Given the description of an element on the screen output the (x, y) to click on. 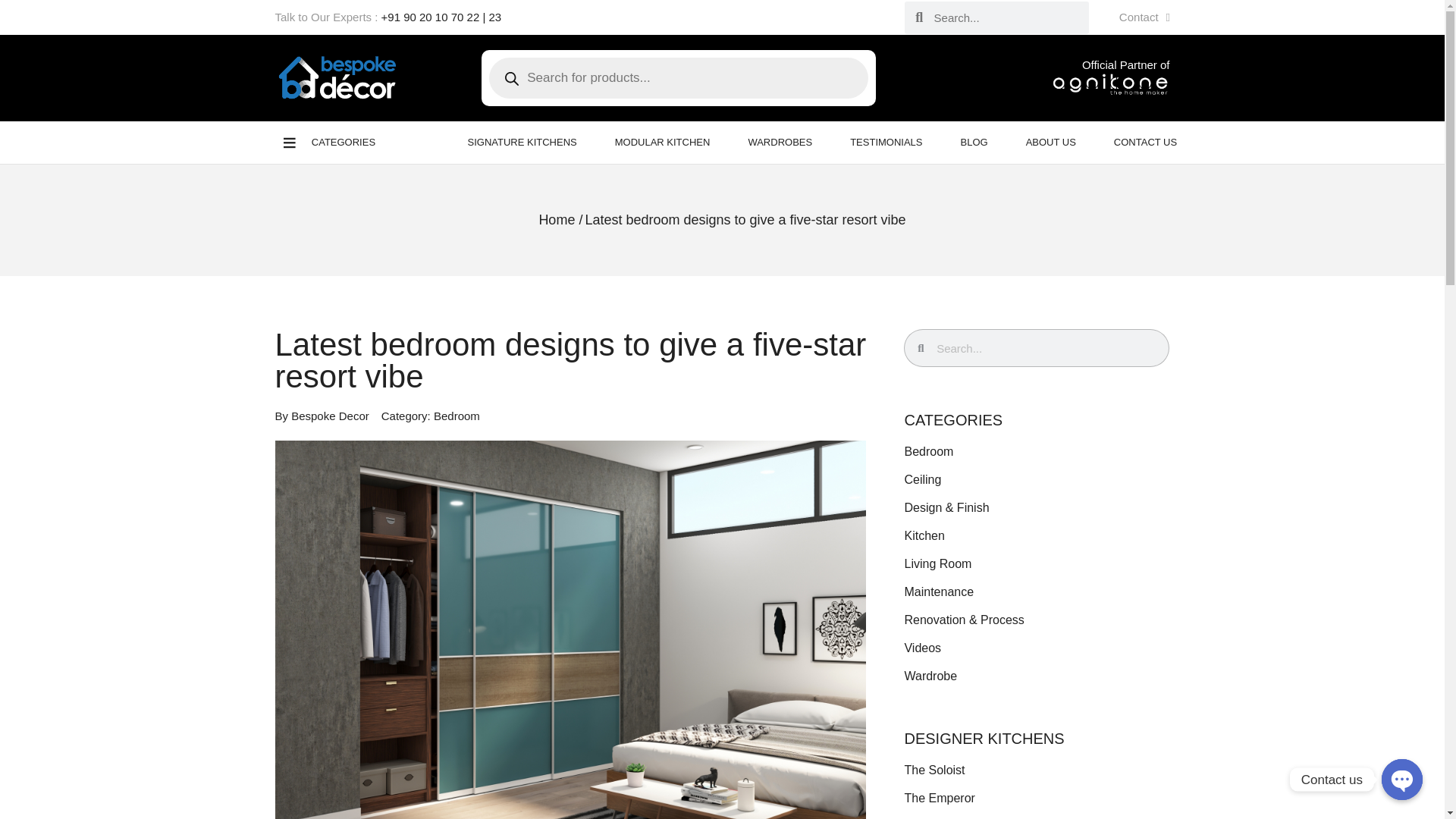
23 (493, 16)
CATEGORIES (331, 142)
Contact (1144, 17)
